Given the description of an element on the screen output the (x, y) to click on. 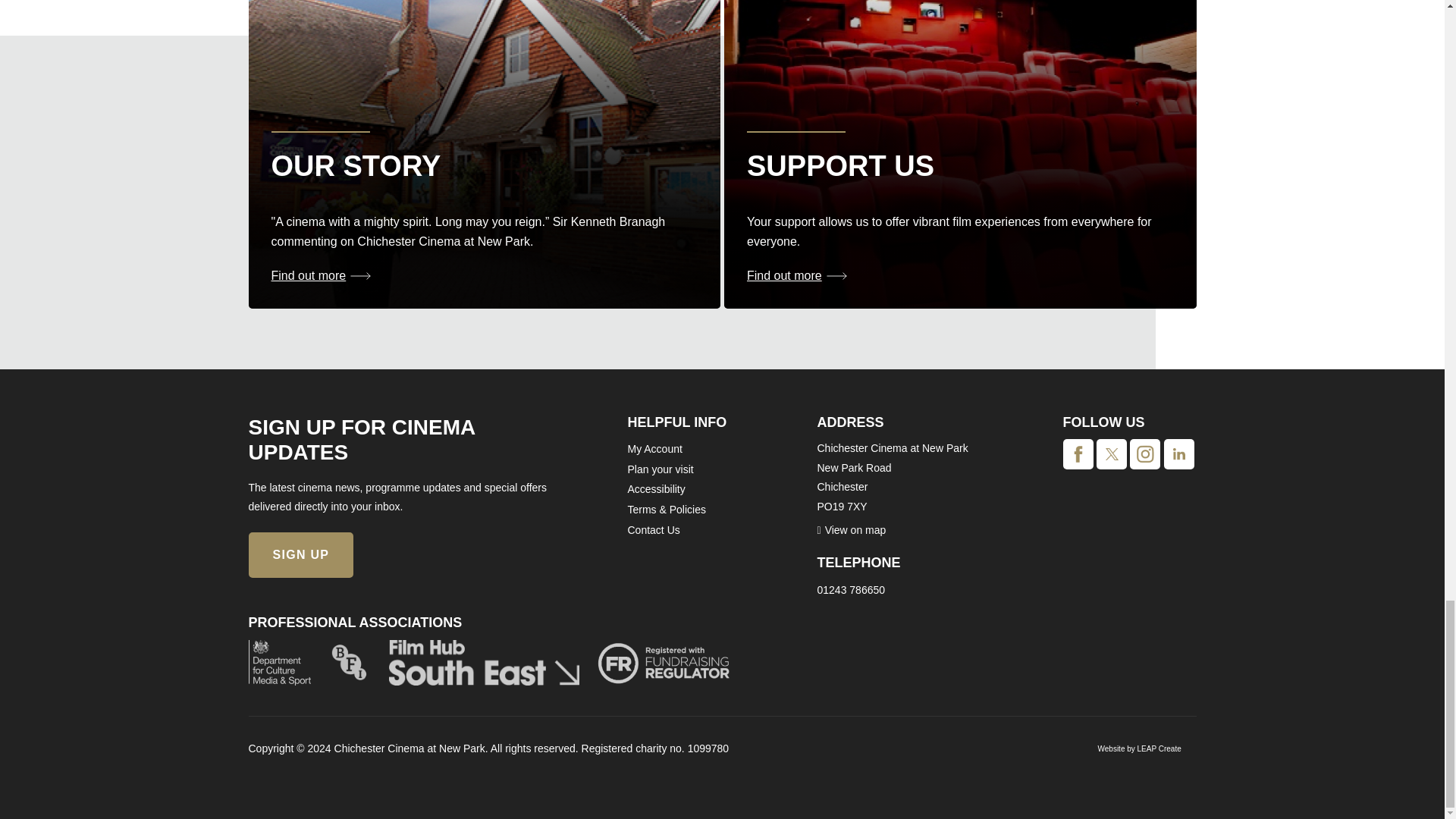
LEAP Create (1158, 748)
Plan your visit (660, 469)
My Account (654, 449)
SIGN UP (300, 555)
Contact Us (653, 530)
Accessibility (656, 489)
01243 786650 (850, 589)
View on map (851, 530)
